Given the description of an element on the screen output the (x, y) to click on. 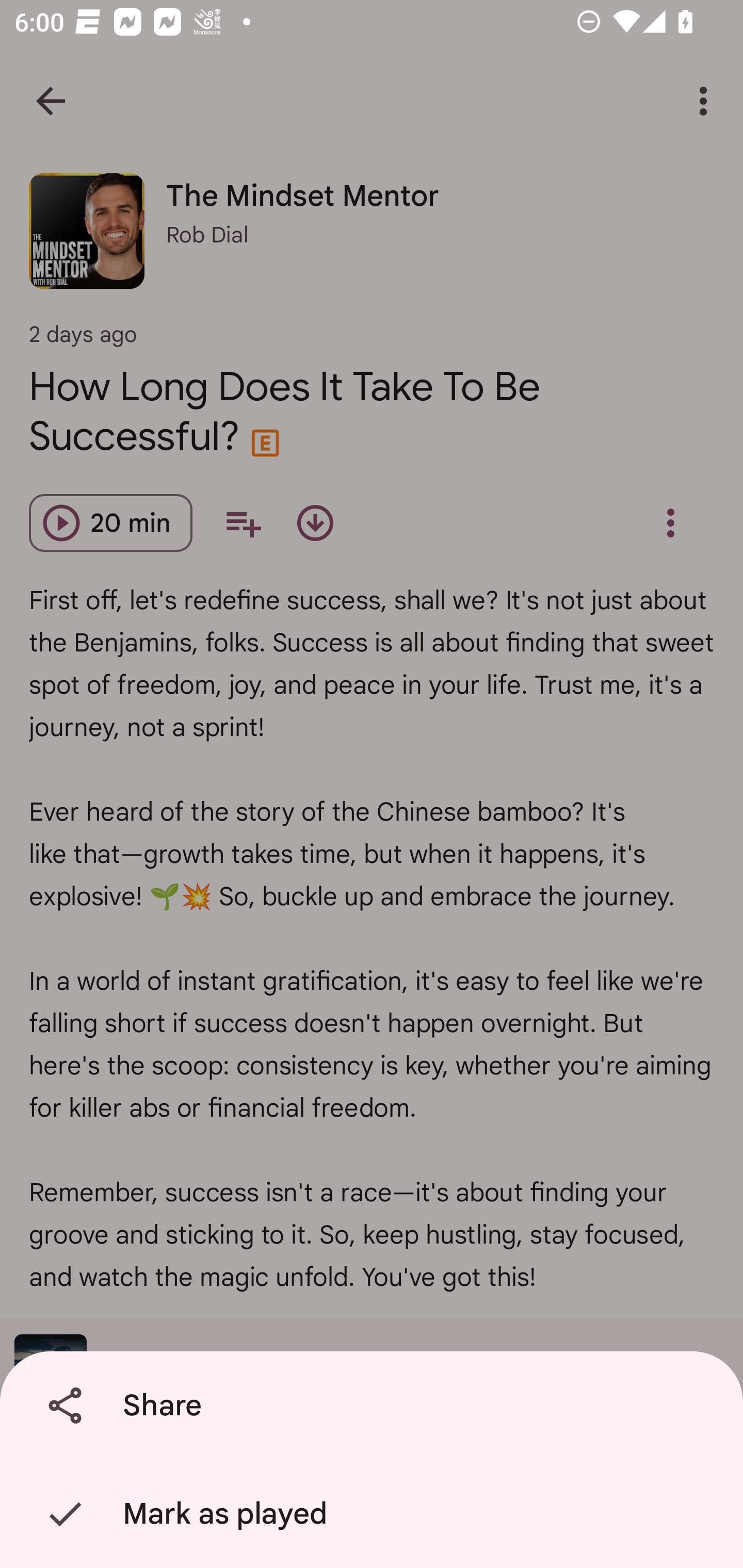
Share (375, 1405)
Mark as played (375, 1513)
